Given the description of an element on the screen output the (x, y) to click on. 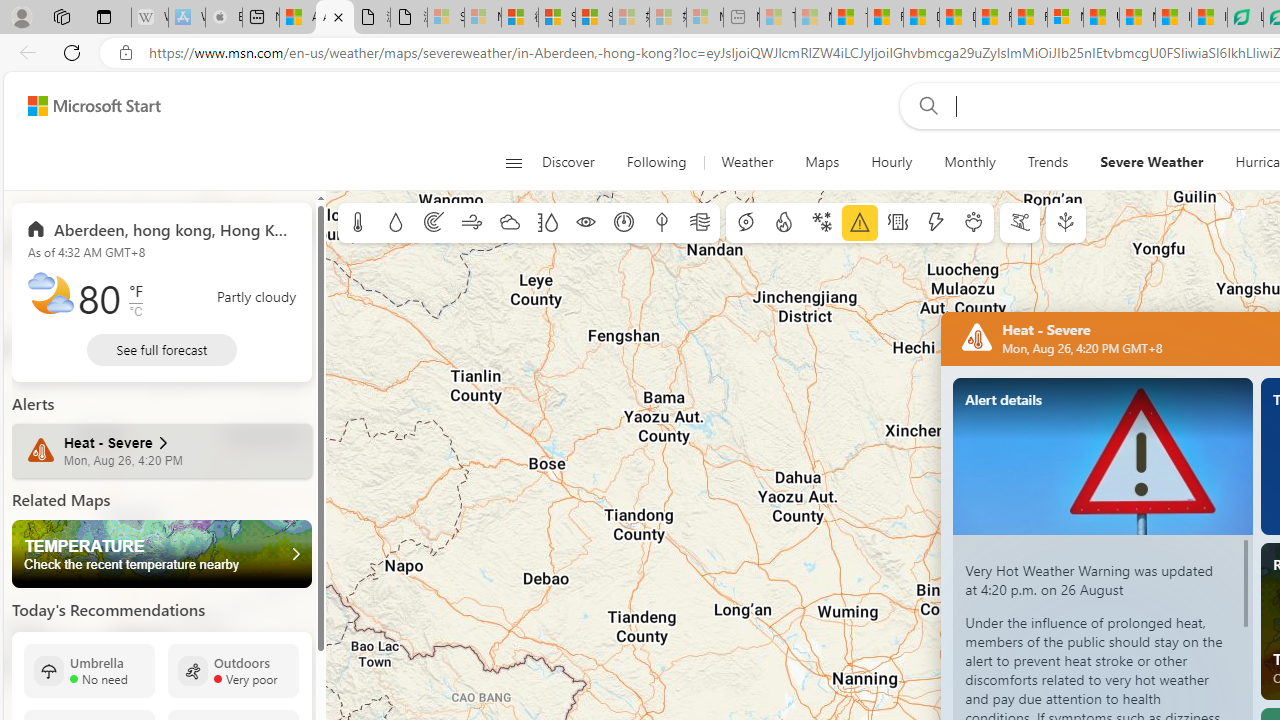
Buy iPad - Apple - Sleeping (223, 17)
Severe weather (860, 223)
Sea level pressure (623, 223)
Weather (747, 162)
Open navigation menu (513, 162)
Aberdeen, hong kong, Hong Kong SAR (161, 228)
Temperature (161, 553)
Ski conditions (1020, 223)
Fire information (783, 223)
